Given the description of an element on the screen output the (x, y) to click on. 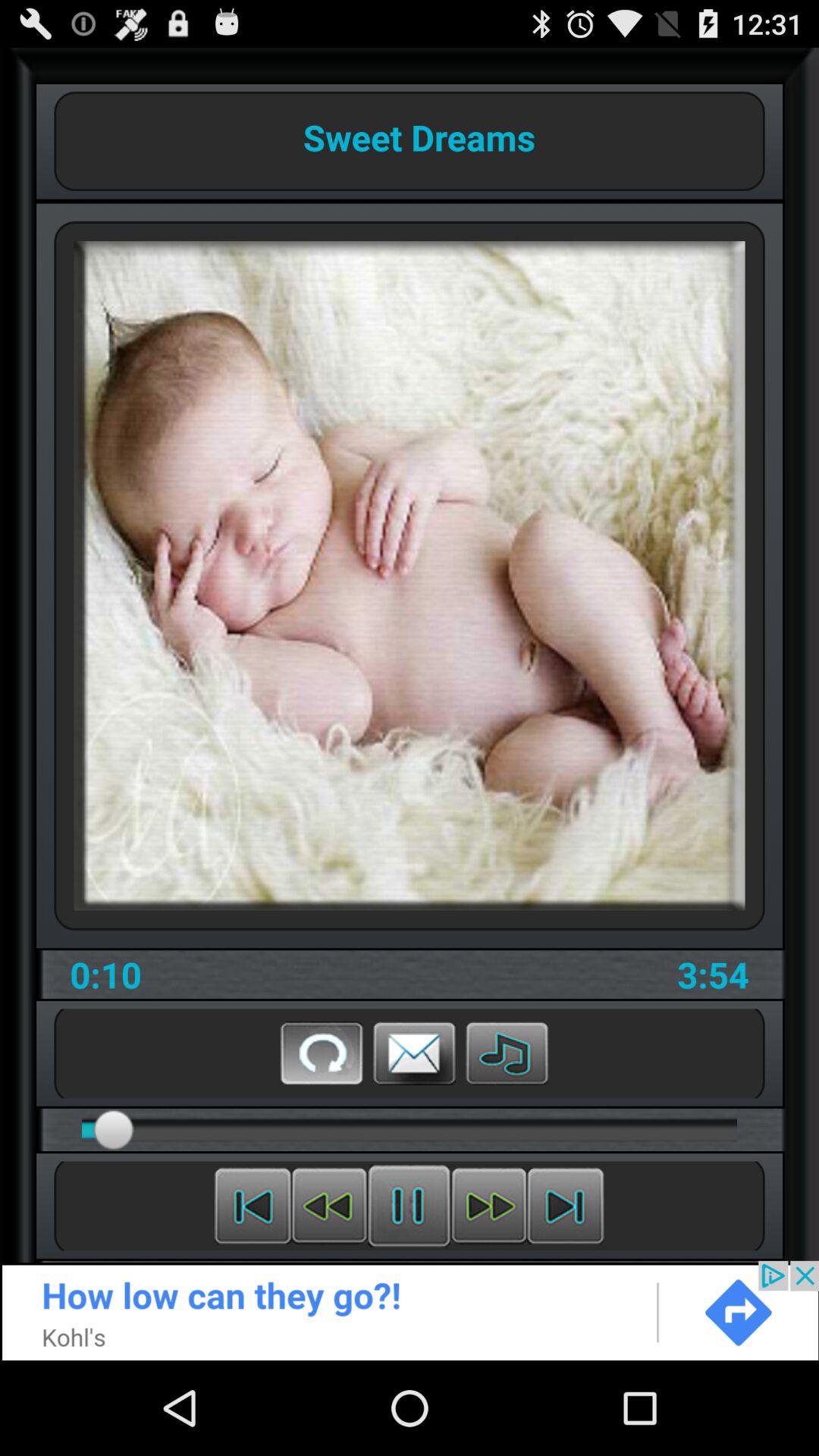
advertisement page (409, 1310)
